Given the description of an element on the screen output the (x, y) to click on. 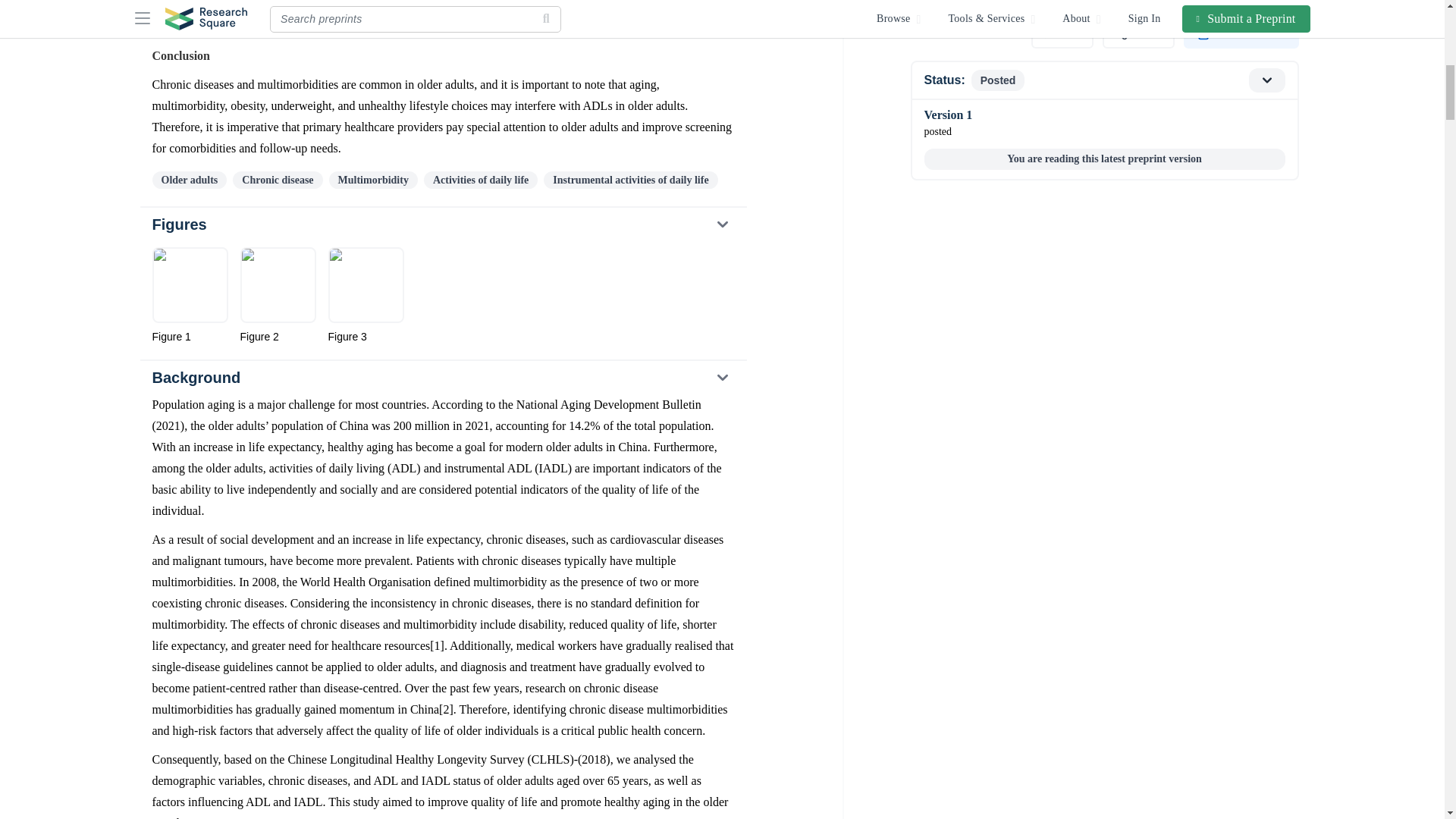
Figures (442, 224)
Background (442, 377)
